Given the description of an element on the screen output the (x, y) to click on. 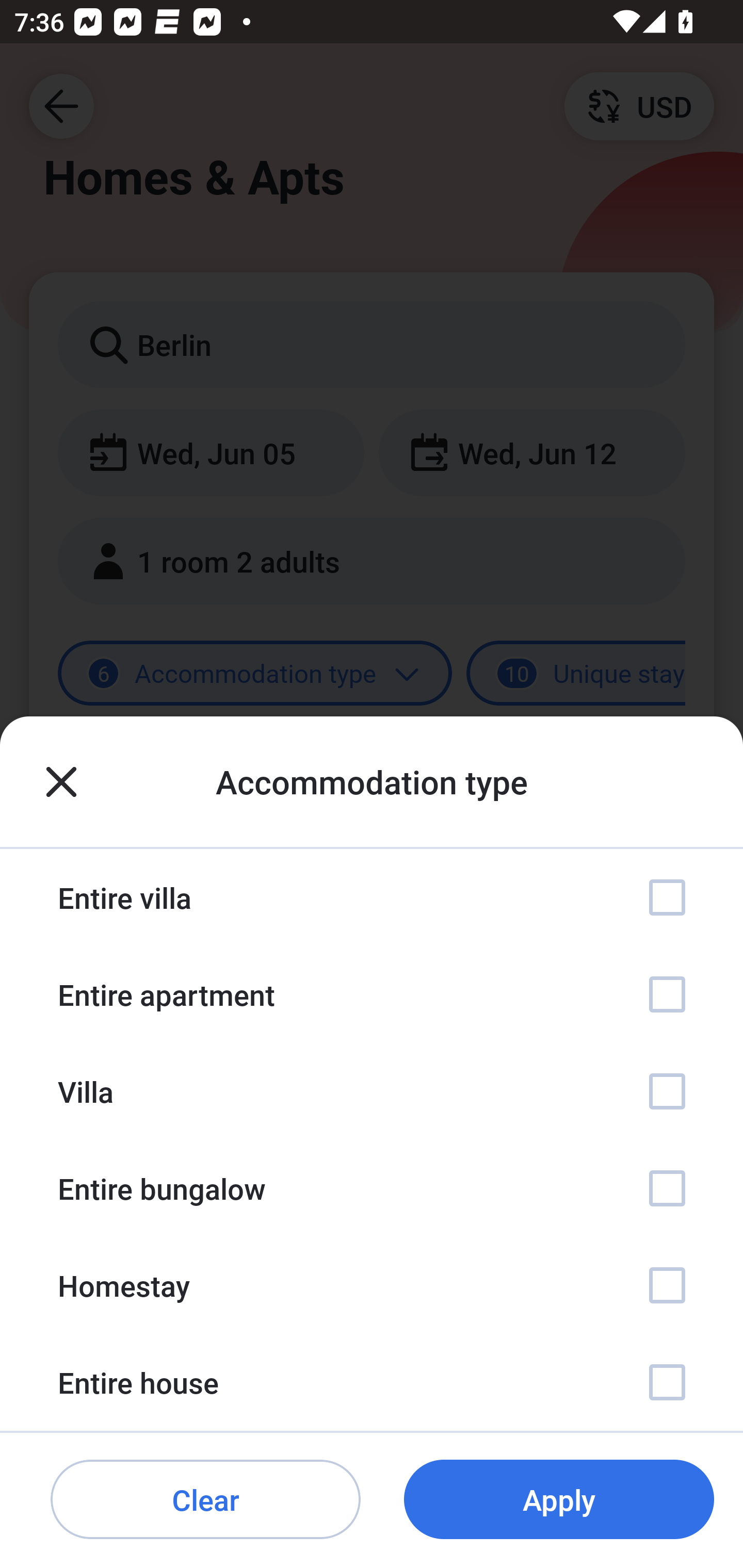
Entire villa (371, 897)
Entire apartment (371, 994)
Villa (371, 1091)
Entire bungalow (371, 1188)
Homestay (371, 1284)
Entire house (371, 1382)
Clear (205, 1499)
Apply (559, 1499)
